Given the description of an element on the screen output the (x, y) to click on. 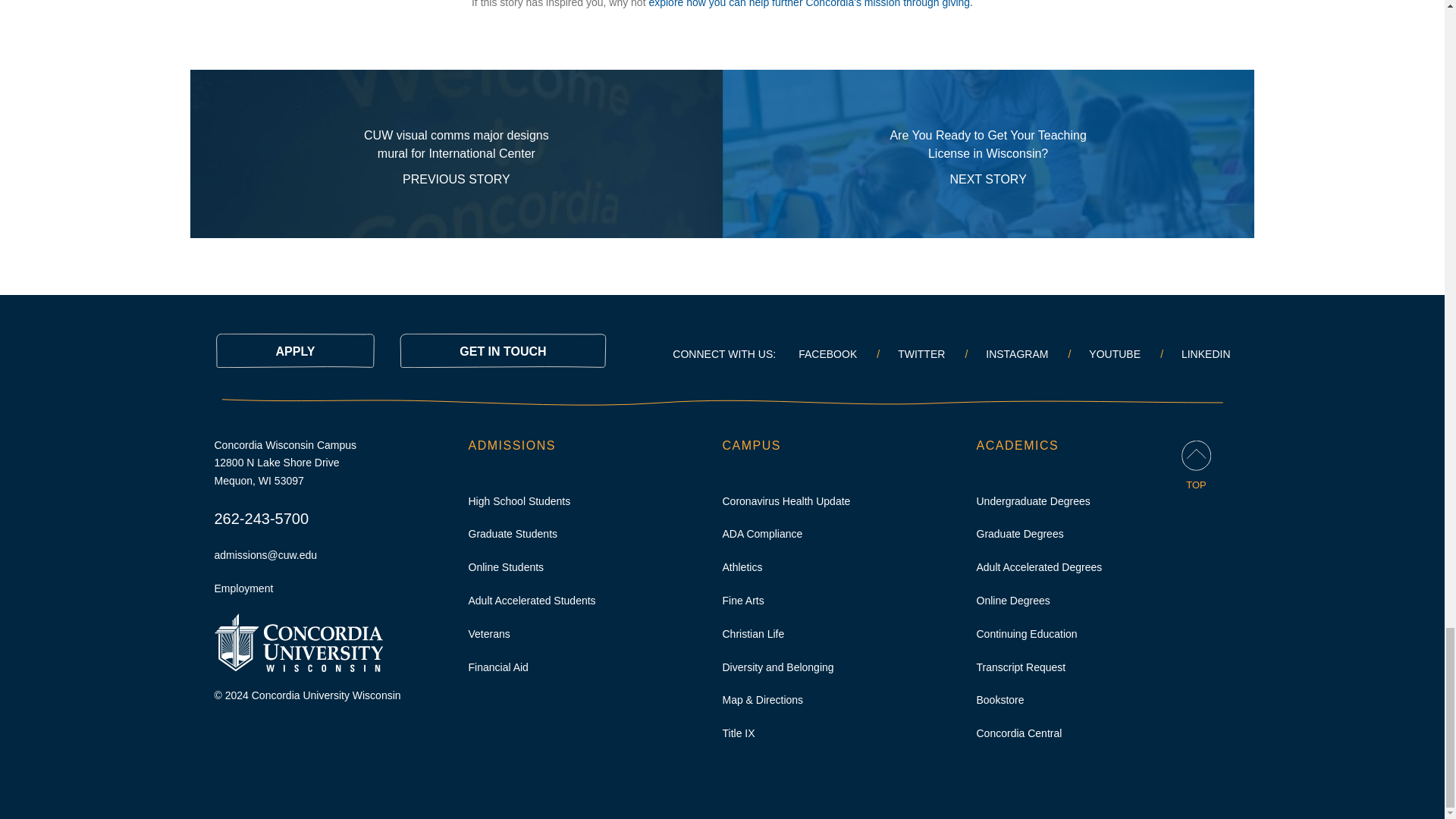
TOP (1195, 466)
CUW Home Page (297, 641)
Learn more about ADA Compliance on the CUW Campus. (762, 533)
